Given the description of an element on the screen output the (x, y) to click on. 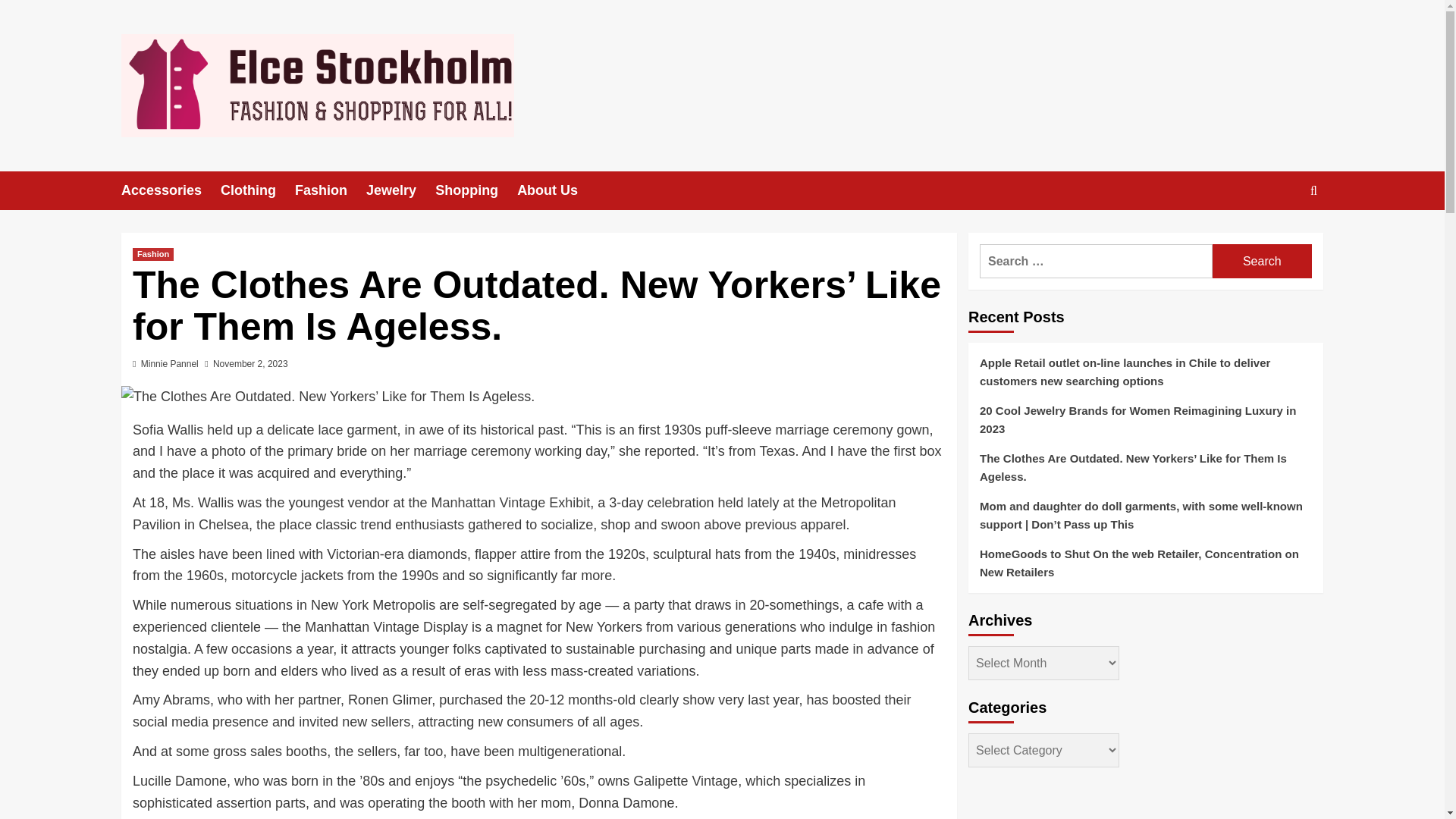
Accessories (170, 190)
Minnie Pannel (169, 363)
Clothing (258, 190)
Manhattan Vintage Exhibit (510, 502)
Galipette Vintage (685, 780)
About Us (556, 190)
Fashion (152, 254)
Fashion (330, 190)
Jewelry (400, 190)
Search (1278, 237)
Search (1261, 261)
November 2, 2023 (250, 363)
Search (1261, 261)
Shopping (475, 190)
